Given the description of an element on the screen output the (x, y) to click on. 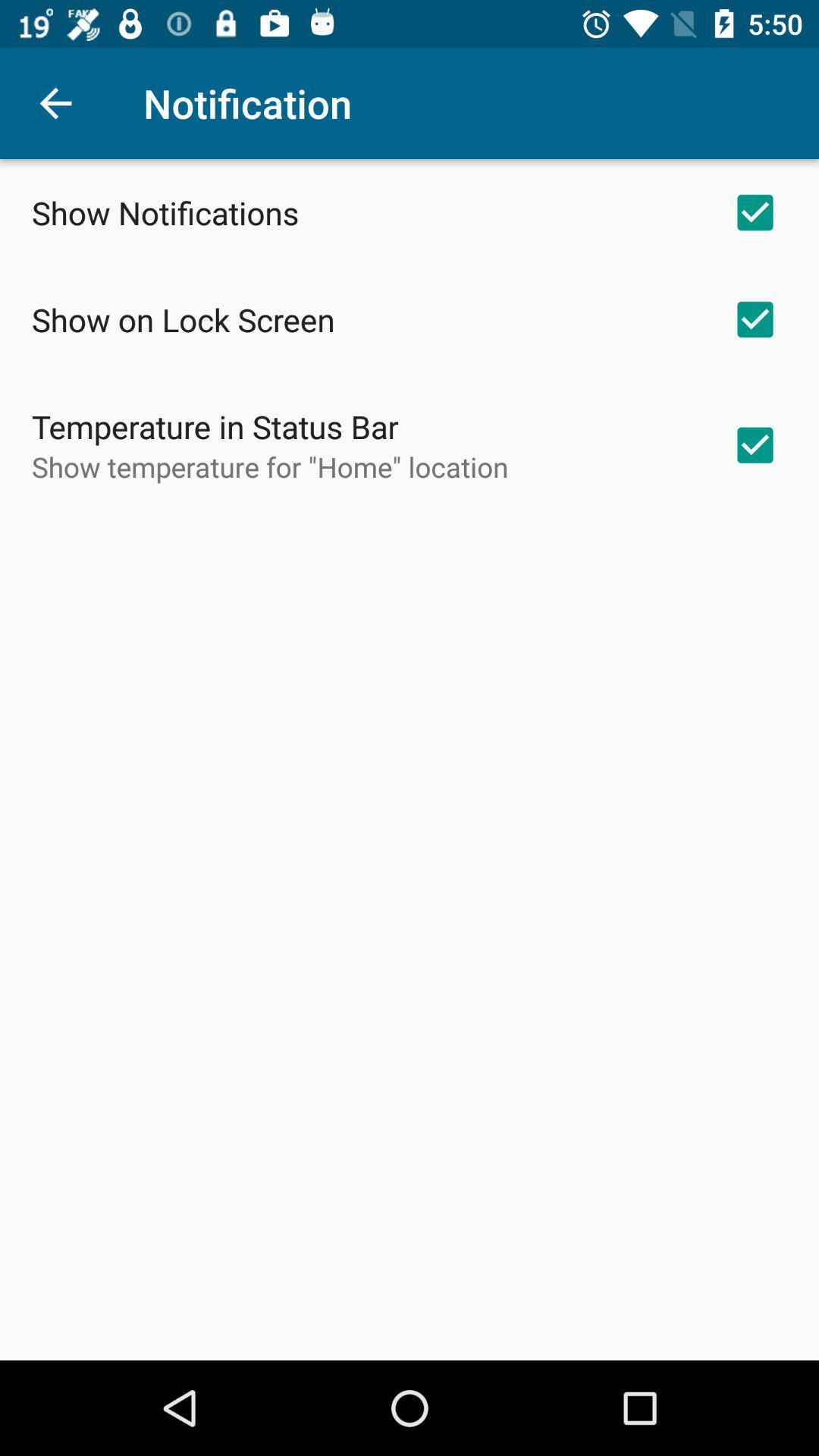
launch item above show notifications (55, 103)
